Given the description of an element on the screen output the (x, y) to click on. 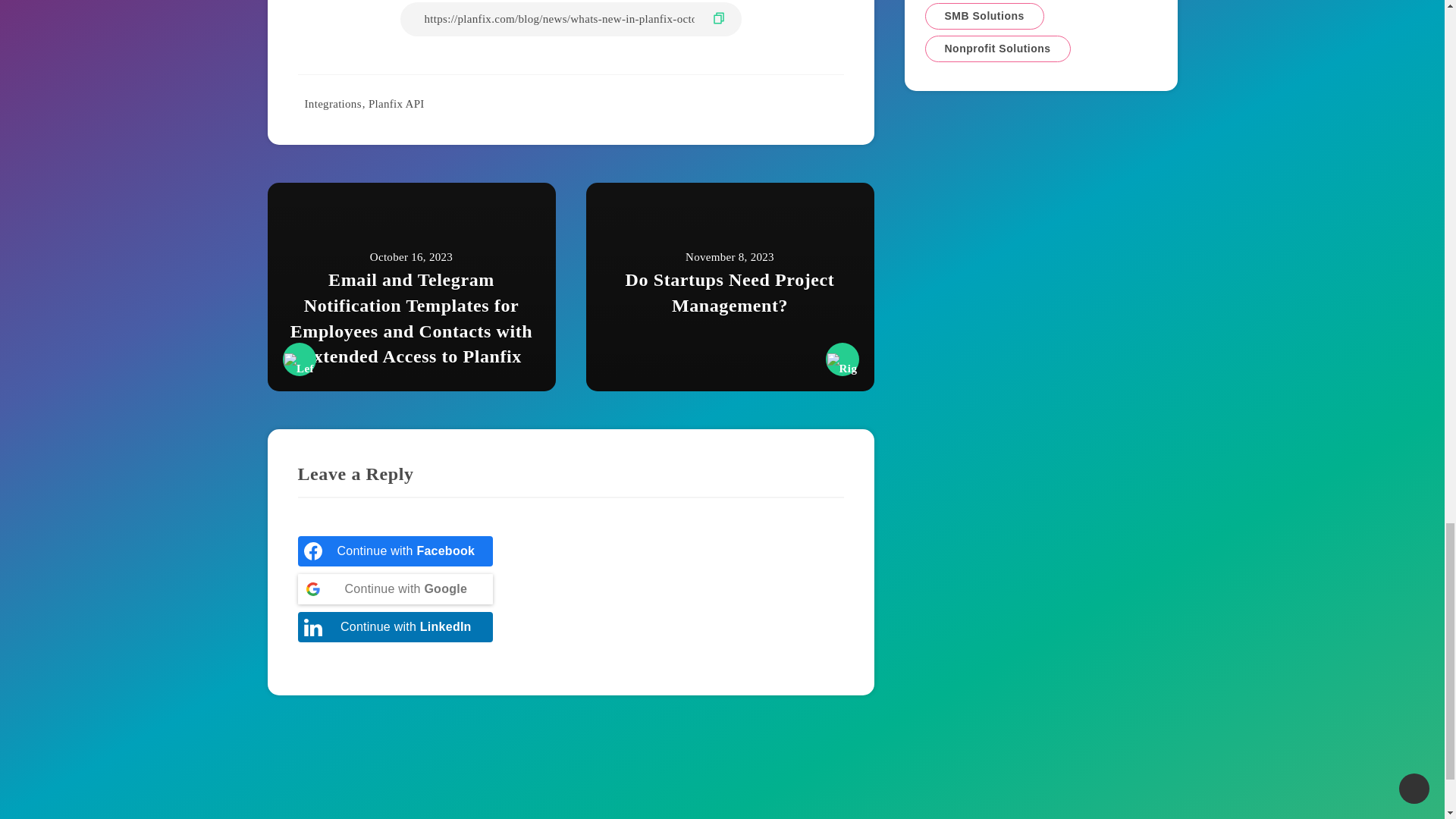
Continue with Facebook (395, 551)
Integrations (332, 103)
Planfix API (396, 103)
Continue with LinkedIn (395, 626)
Continue with Google (395, 589)
